Given the description of an element on the screen output the (x, y) to click on. 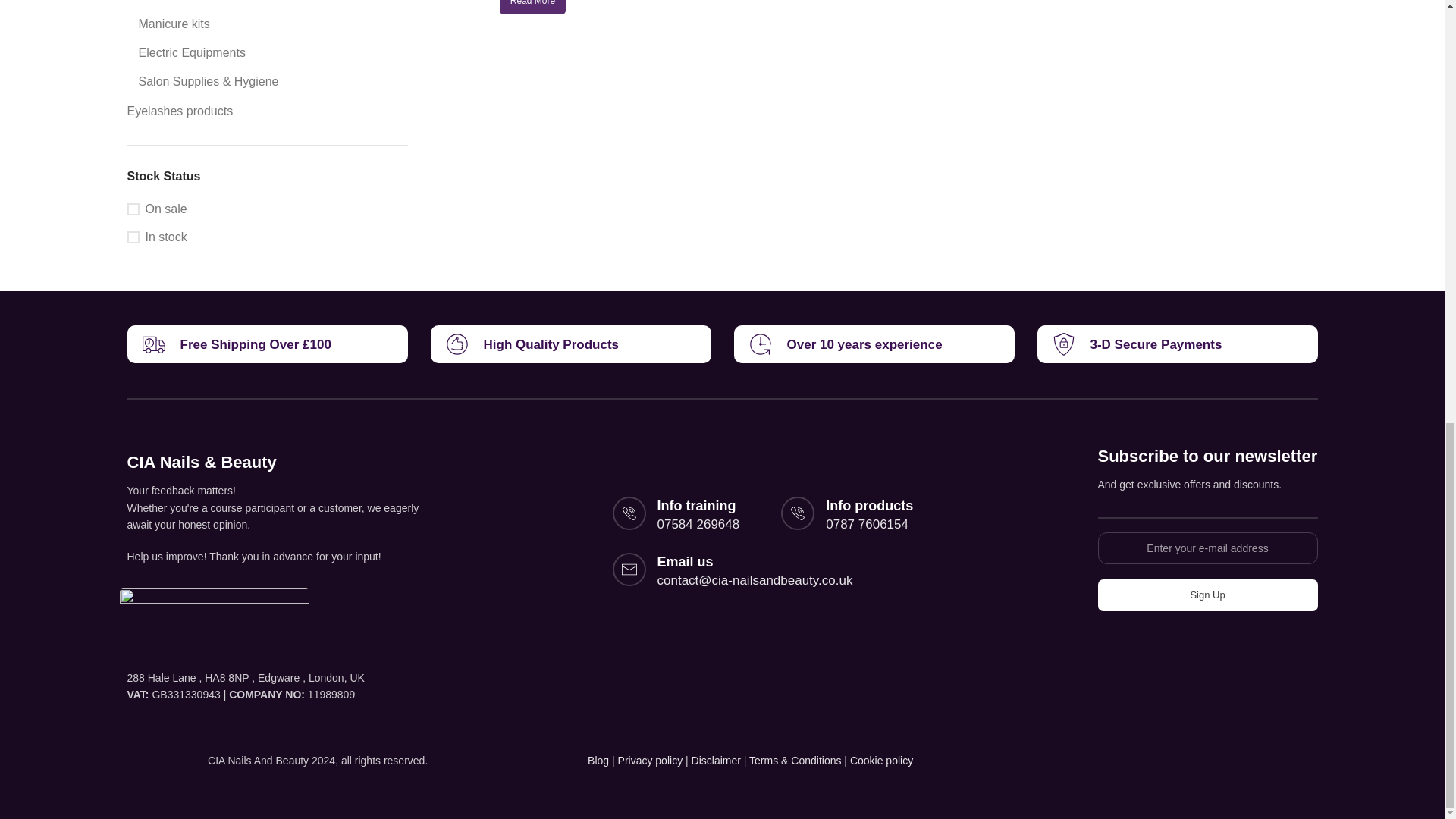
discla (795, 760)
Sign up (1207, 594)
discla (716, 760)
discla (881, 760)
